Given the description of an element on the screen output the (x, y) to click on. 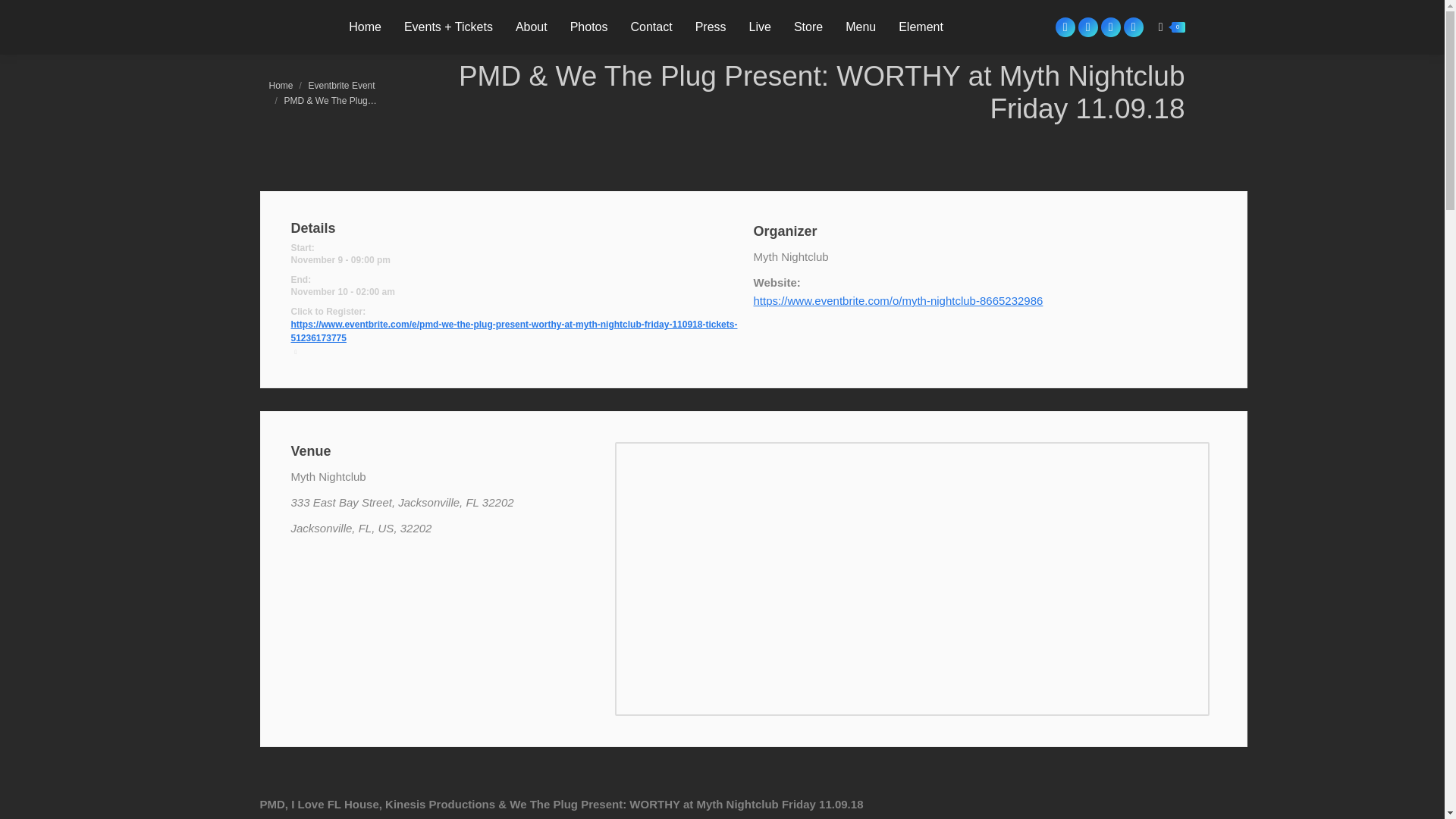
Live (760, 26)
Store (807, 26)
Facebook page opens in new window (1065, 26)
Press (710, 26)
YouTube page opens in new window (1133, 26)
Home (279, 85)
Contact (651, 26)
Eventbrite Event (341, 85)
X page opens in new window (1110, 26)
Instagram page opens in new window (1087, 26)
